Given the description of an element on the screen output the (x, y) to click on. 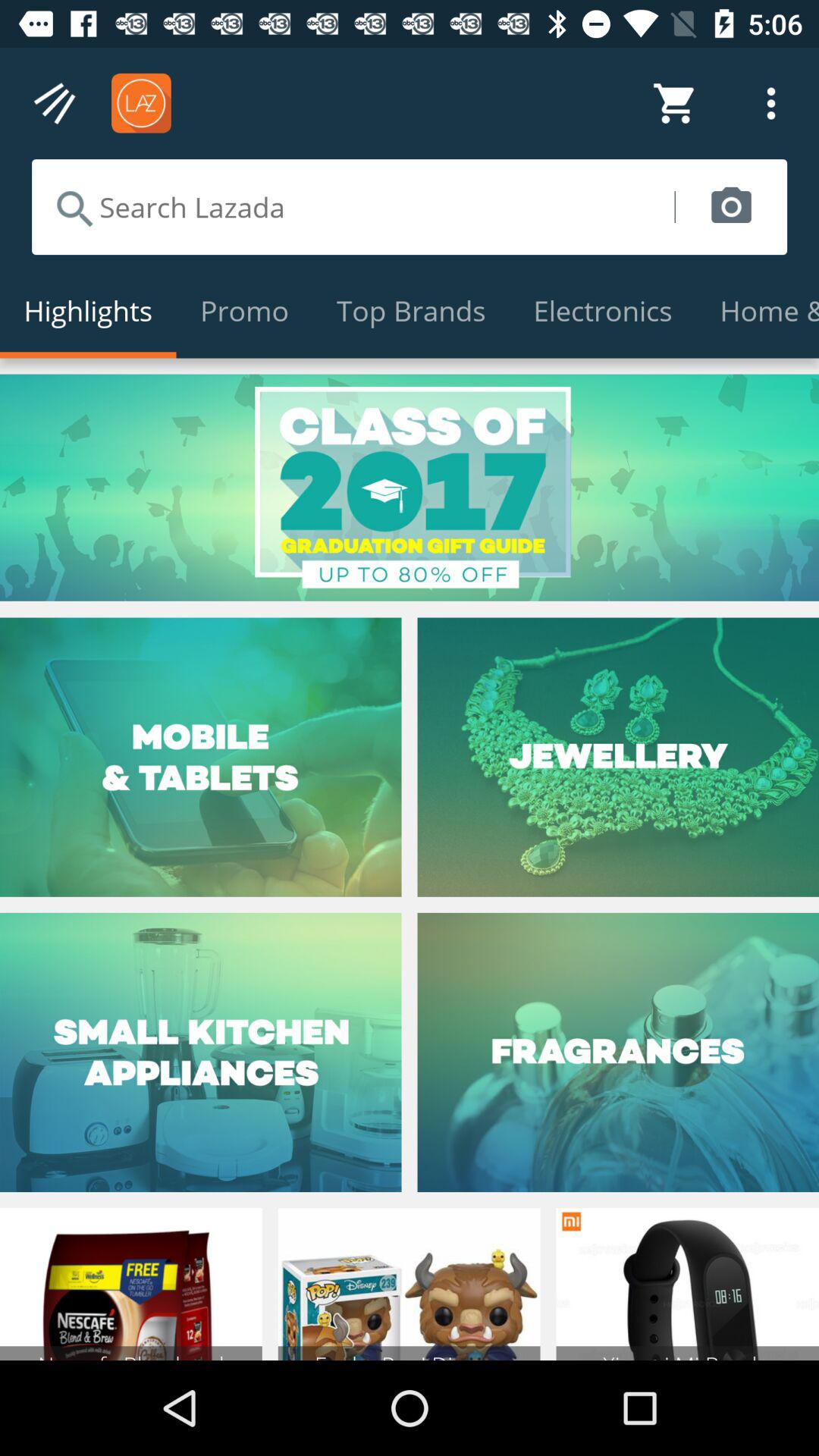
select picture (731, 206)
